Given the description of an element on the screen output the (x, y) to click on. 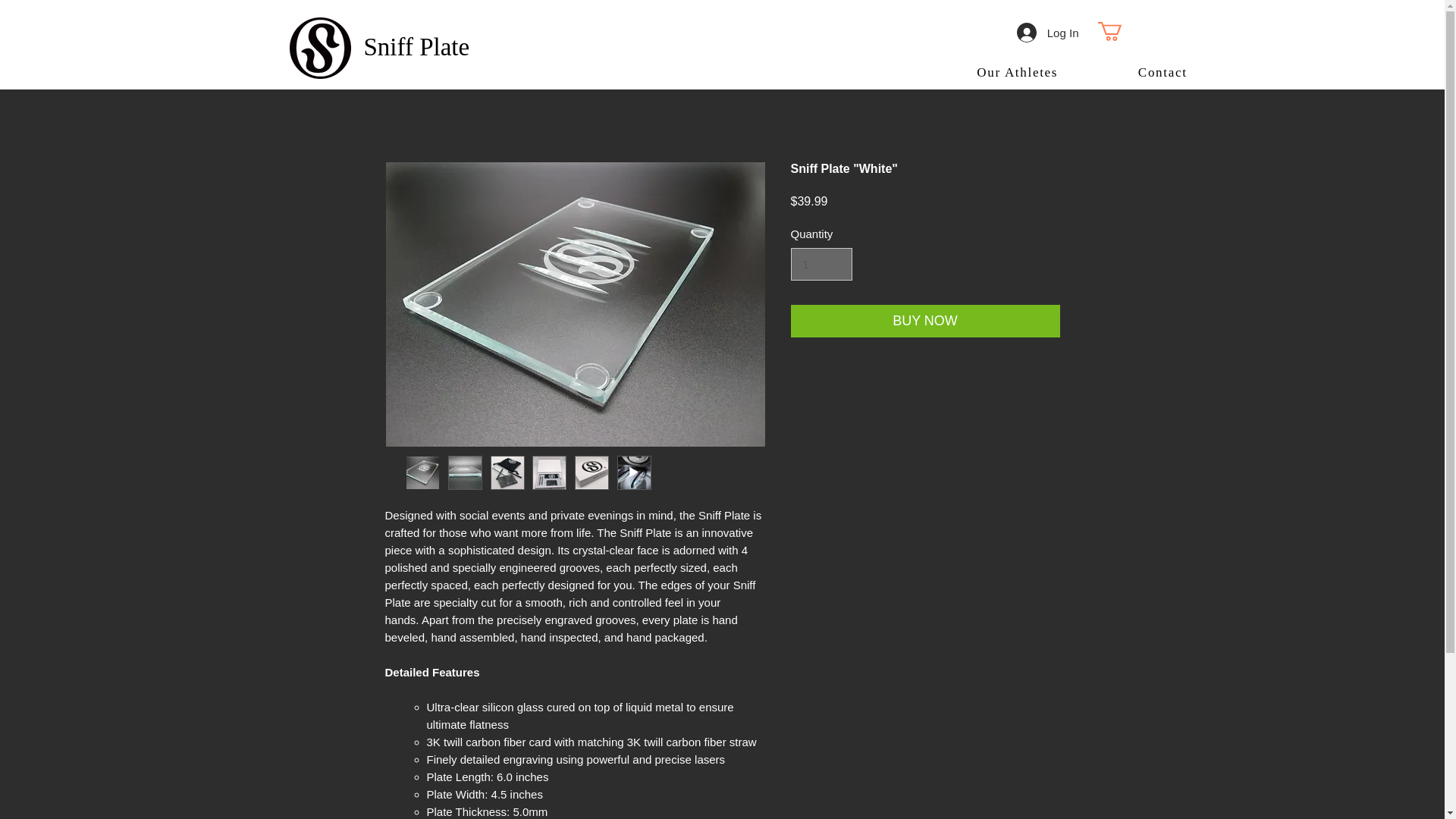
Sniff Plate (417, 46)
1 (820, 264)
Our Athletes (1018, 73)
Contact (1162, 73)
BUY NOW (924, 320)
Log In (1047, 32)
